Given the description of an element on the screen output the (x, y) to click on. 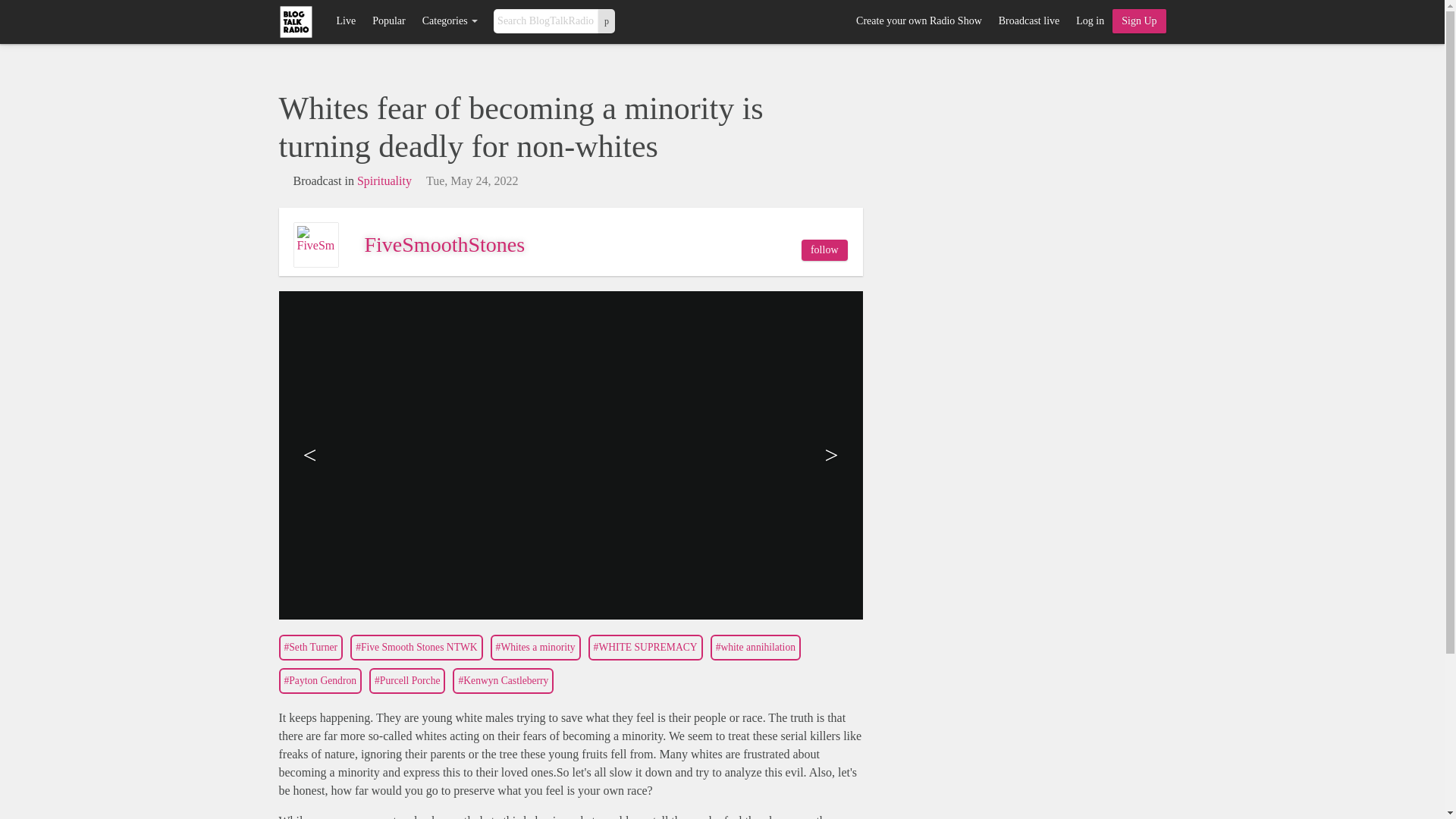
Sign Up (1139, 21)
Log in (1089, 20)
Create My Talk Show (1139, 21)
Create your own Radio Show (918, 20)
Broadcast live (1028, 20)
Categories (449, 20)
Popular (388, 20)
Follow FiveSmoothStones (824, 250)
Live (345, 20)
